Given the description of an element on the screen output the (x, y) to click on. 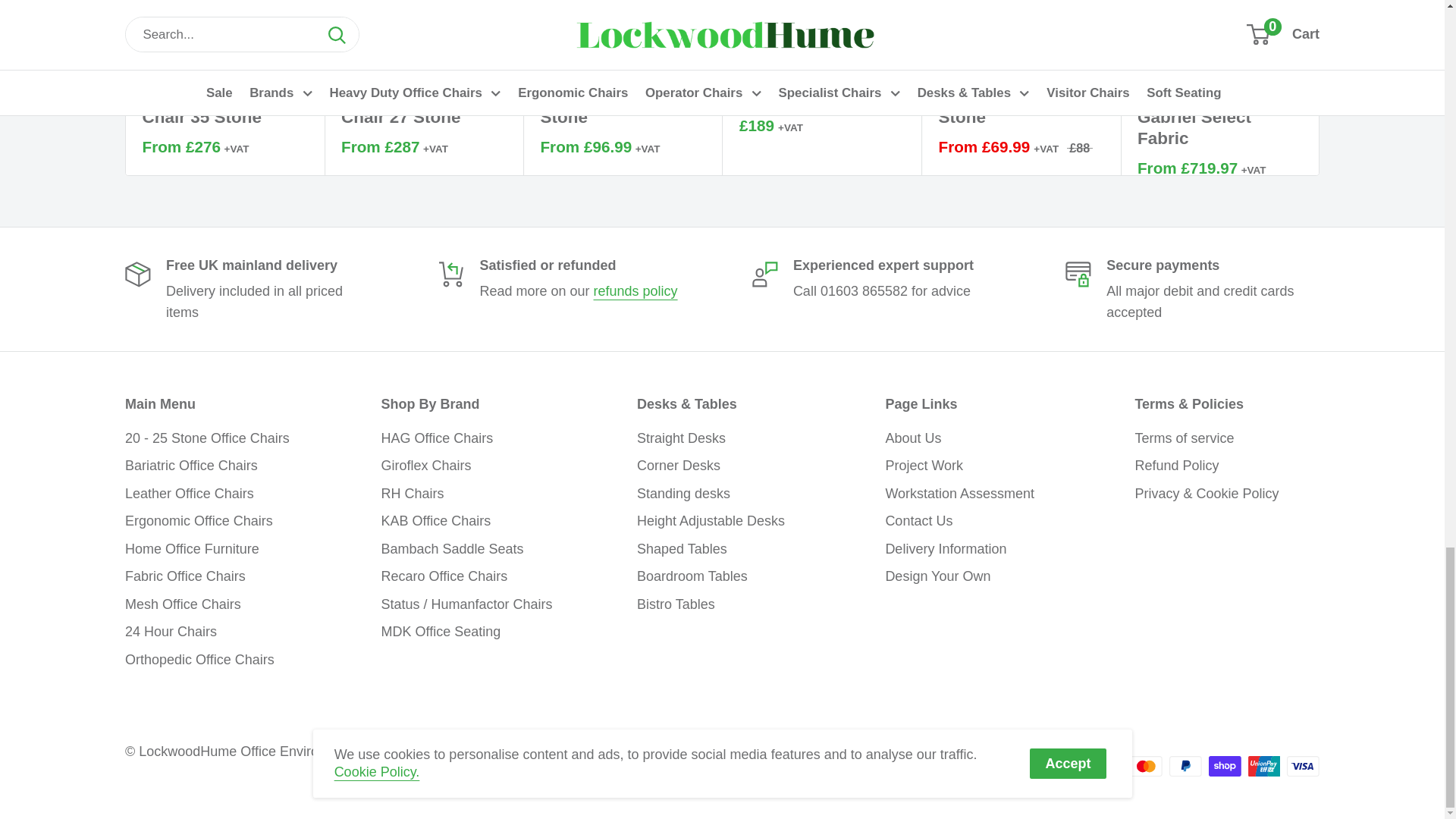
Refund Policy (636, 290)
